Given the description of an element on the screen output the (x, y) to click on. 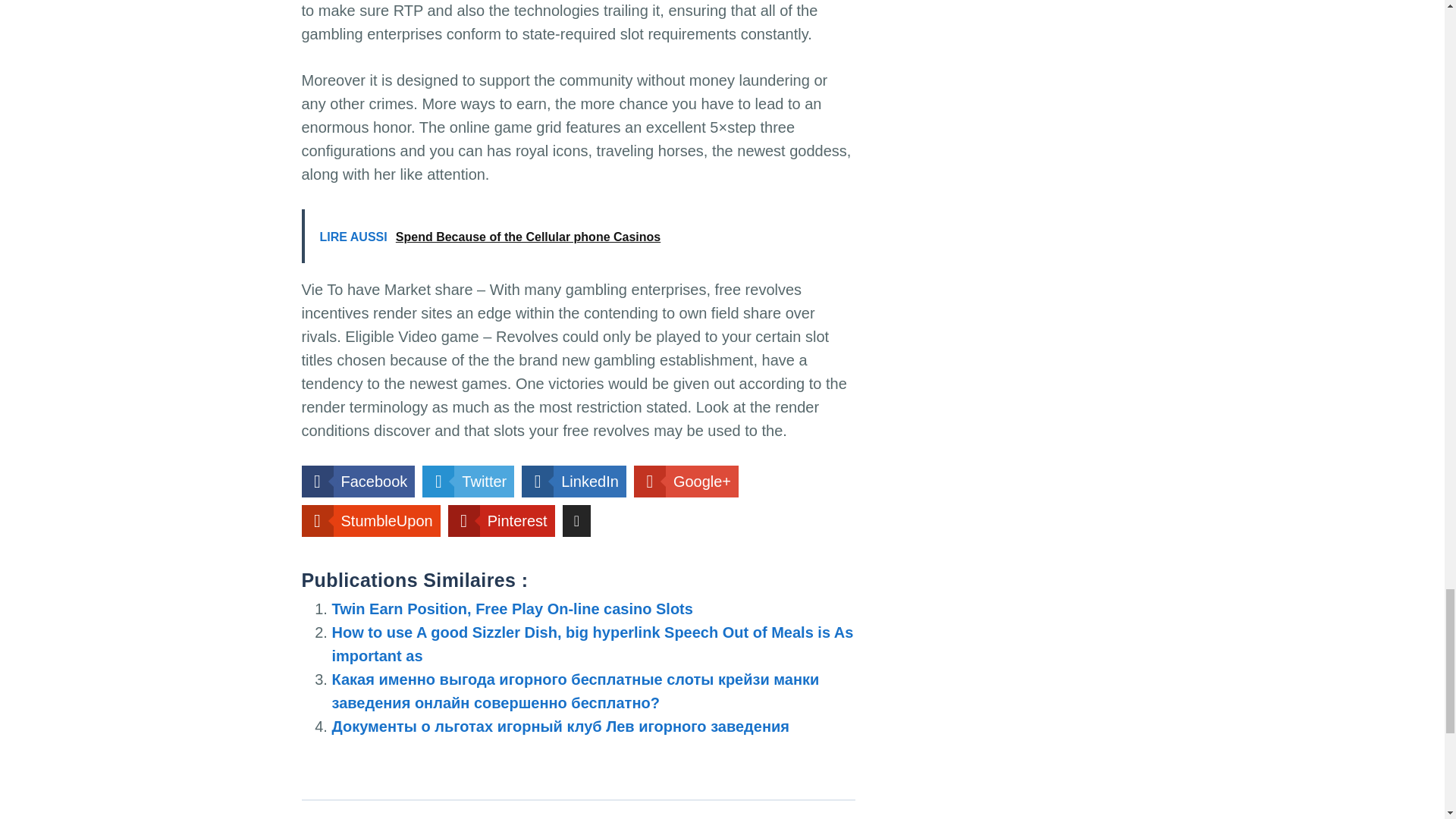
StumbleUpon (371, 521)
Twin Earn Position, Free Play On-line casino Slots (512, 608)
Pinterest (501, 521)
LIRE AUSSI  Spend Because of the Cellular phone Casinos (578, 235)
LinkedIn (573, 481)
Twin Earn Position, Free Play On-line casino Slots (512, 608)
Twitter (467, 481)
Facebook (357, 481)
